Given the description of an element on the screen output the (x, y) to click on. 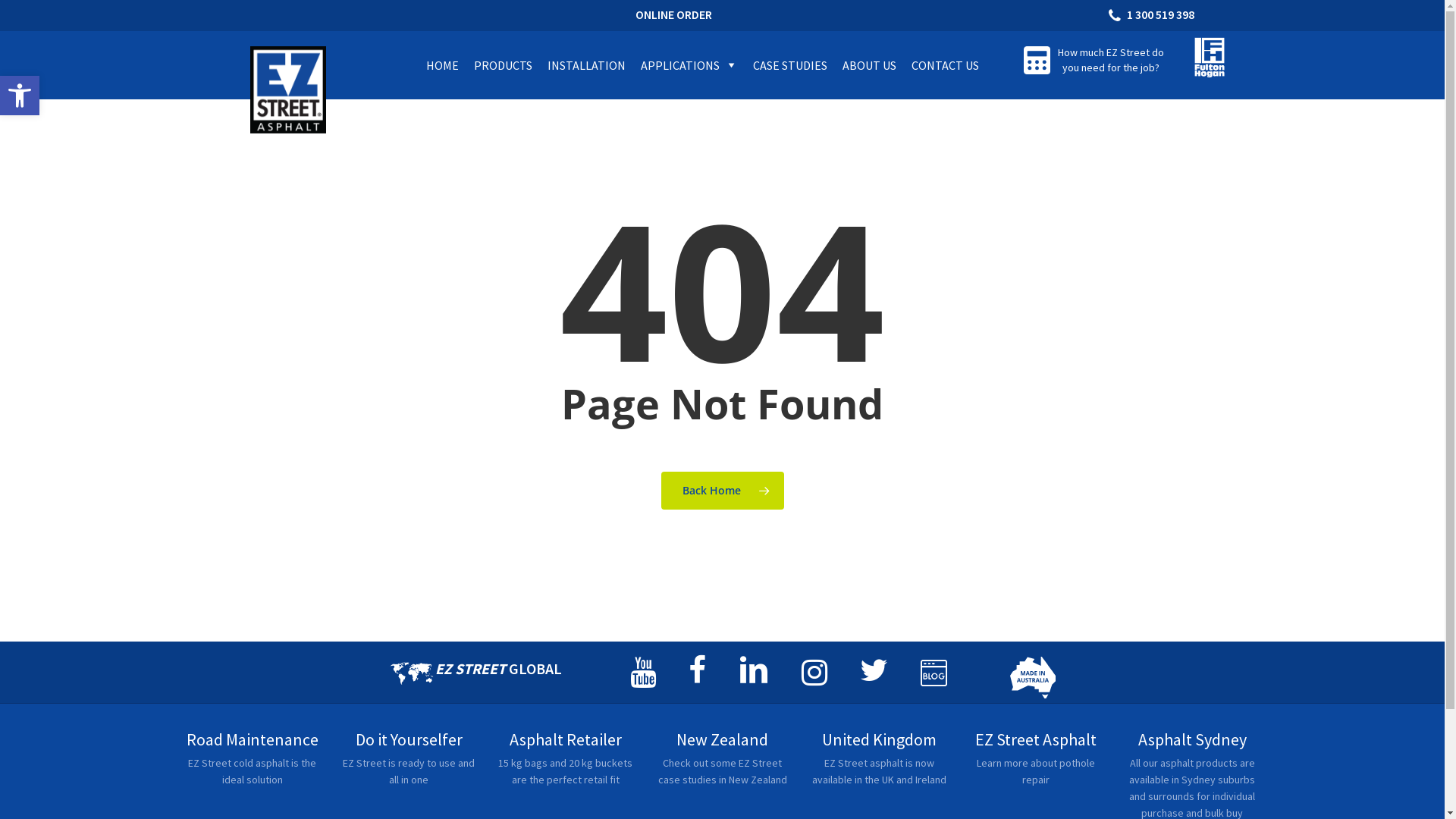
HOME Element type: text (442, 64)
INSTALLATION Element type: text (586, 64)
CASE STUDIES Element type: text (790, 64)
CONTACT US Element type: text (945, 64)
How much EZ Street do you need for the job? Element type: text (1110, 59)
Back Home Element type: text (722, 490)
ABOUT US Element type: text (869, 64)
Open toolbar
Accessibility Tools Element type: text (19, 95)
1 300 519 398 Element type: text (1153, 13)
EZ Street Asphalt
Learn more about pothole repair Element type: text (1035, 766)
APPLICATIONS Element type: text (688, 64)
Do it Yourselfer
EZ Street is ready to use and all in one Element type: text (408, 766)
ONLINE ORDER Element type: text (673, 14)
PRODUCTS Element type: text (502, 64)
